Given the description of an element on the screen output the (x, y) to click on. 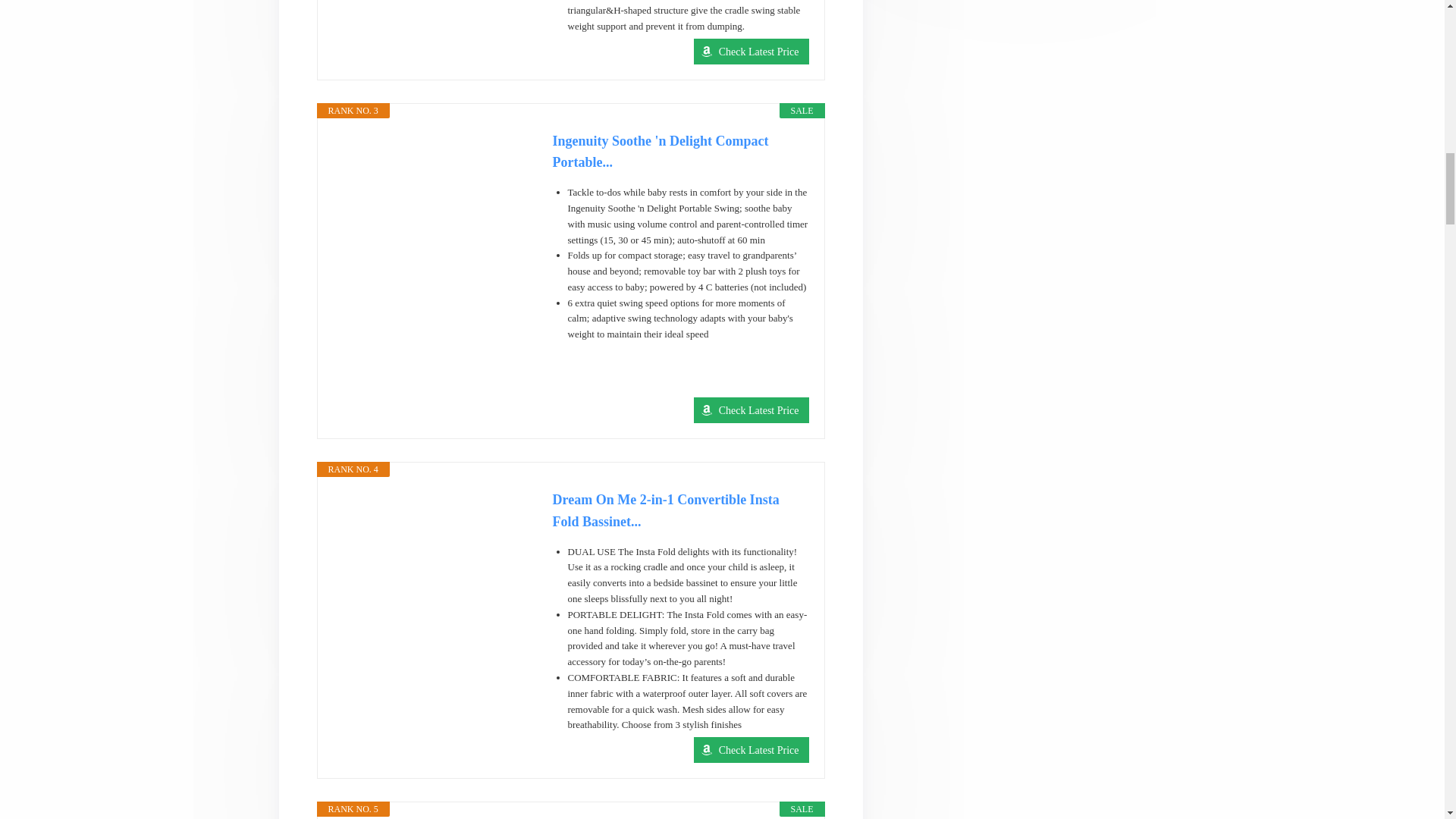
Ingenuity Soothe 'n Delight Compact Portable... (679, 152)
Check Latest Price (751, 51)
Check Latest Price (751, 51)
Dream On Me 2-in-1 Convertible Insta Fold Bassinet... (679, 510)
Check Latest Price (751, 410)
Check Latest Price (751, 749)
Amazon Prime (788, 384)
Check Latest Price (751, 410)
Ingenuity Soothe'n Delight Compact Portable... (679, 152)
